Given the description of an element on the screen output the (x, y) to click on. 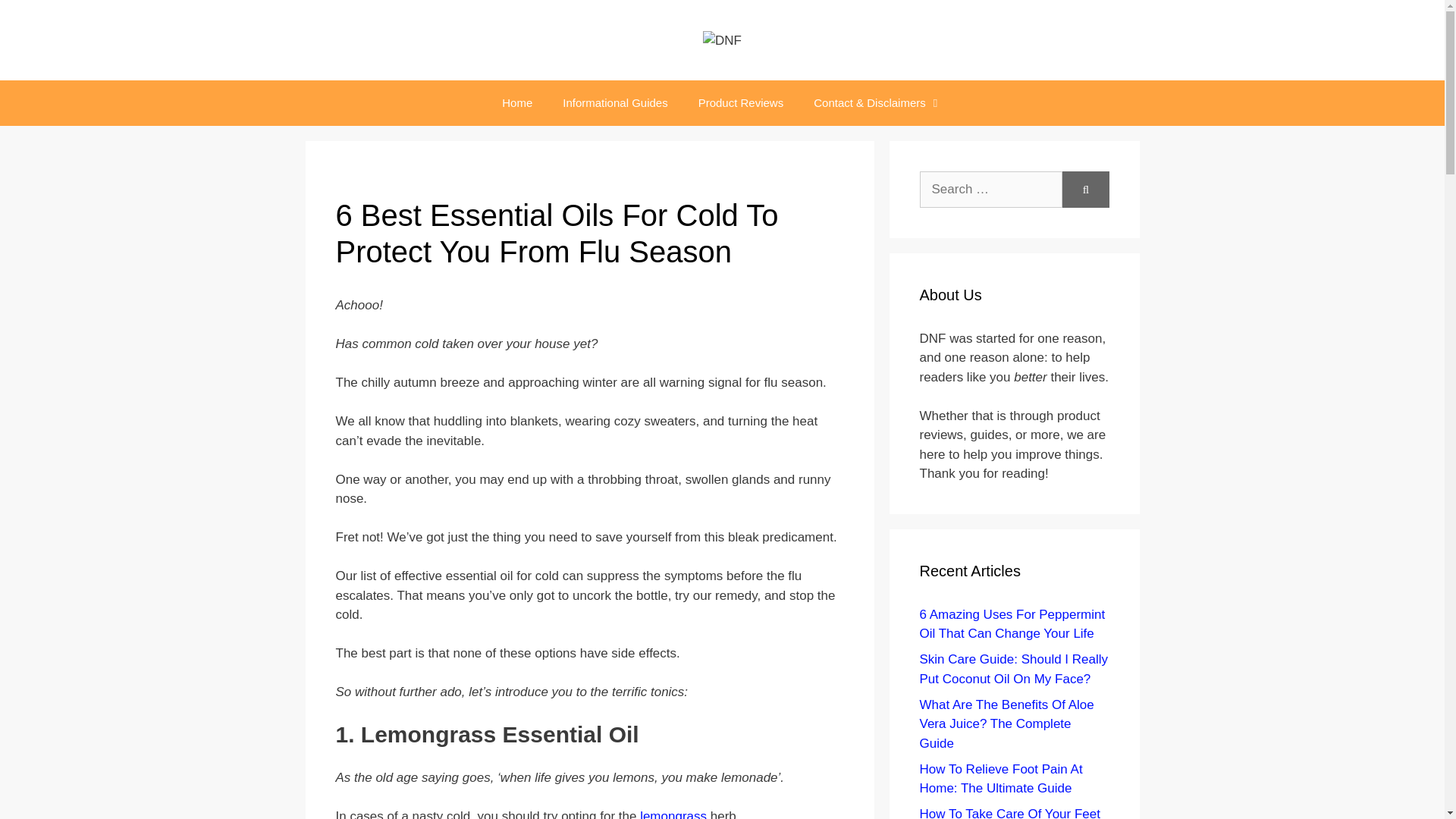
Informational Guides (614, 103)
6 Amazing Uses For Peppermint Oil That Can Change Your Life (1011, 624)
lemongrass (673, 814)
Home (516, 103)
How To Relieve Foot Pain At Home: The Ultimate Guide (999, 779)
Product Reviews (740, 103)
Skin Care Guide: Should I Really Put Coconut Oil On My Face? (1013, 668)
Search for: (990, 189)
What Are The Benefits Of Aloe Vera Juice? The Complete Guide (1005, 724)
